Given the description of an element on the screen output the (x, y) to click on. 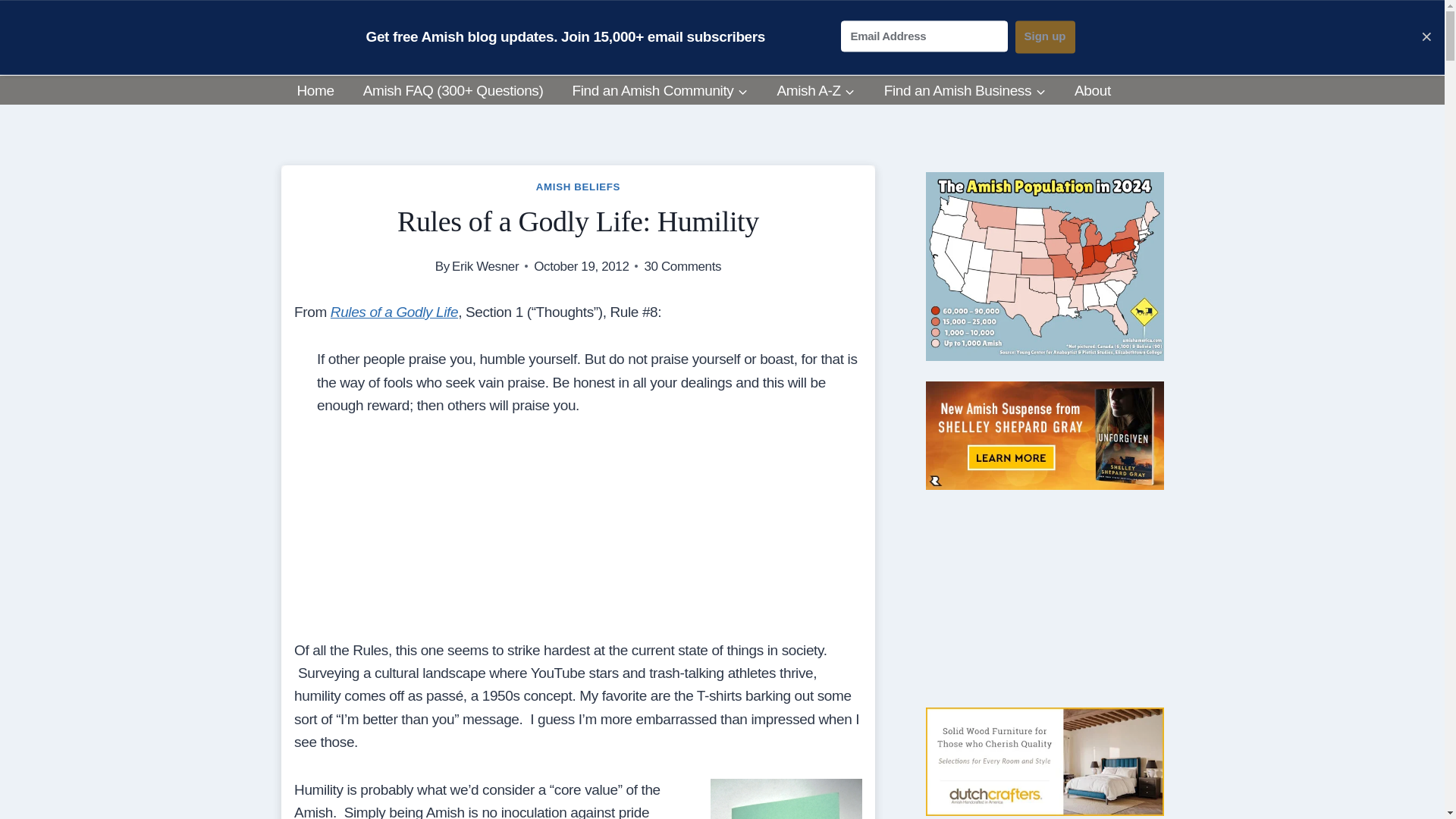
AMISH BELIEFS (577, 186)
Home (314, 90)
About (1092, 90)
30 Comments (681, 266)
Find an Amish Business (964, 90)
Rules of a Godly Life (394, 311)
Amish A-Z (815, 90)
Erik Wesner (484, 266)
Find an Amish Community (659, 90)
A-Z Guide to Amish Topics (815, 90)
30 Comments (681, 266)
Site search (1118, 48)
Homepage (314, 90)
